Given the description of an element on the screen output the (x, y) to click on. 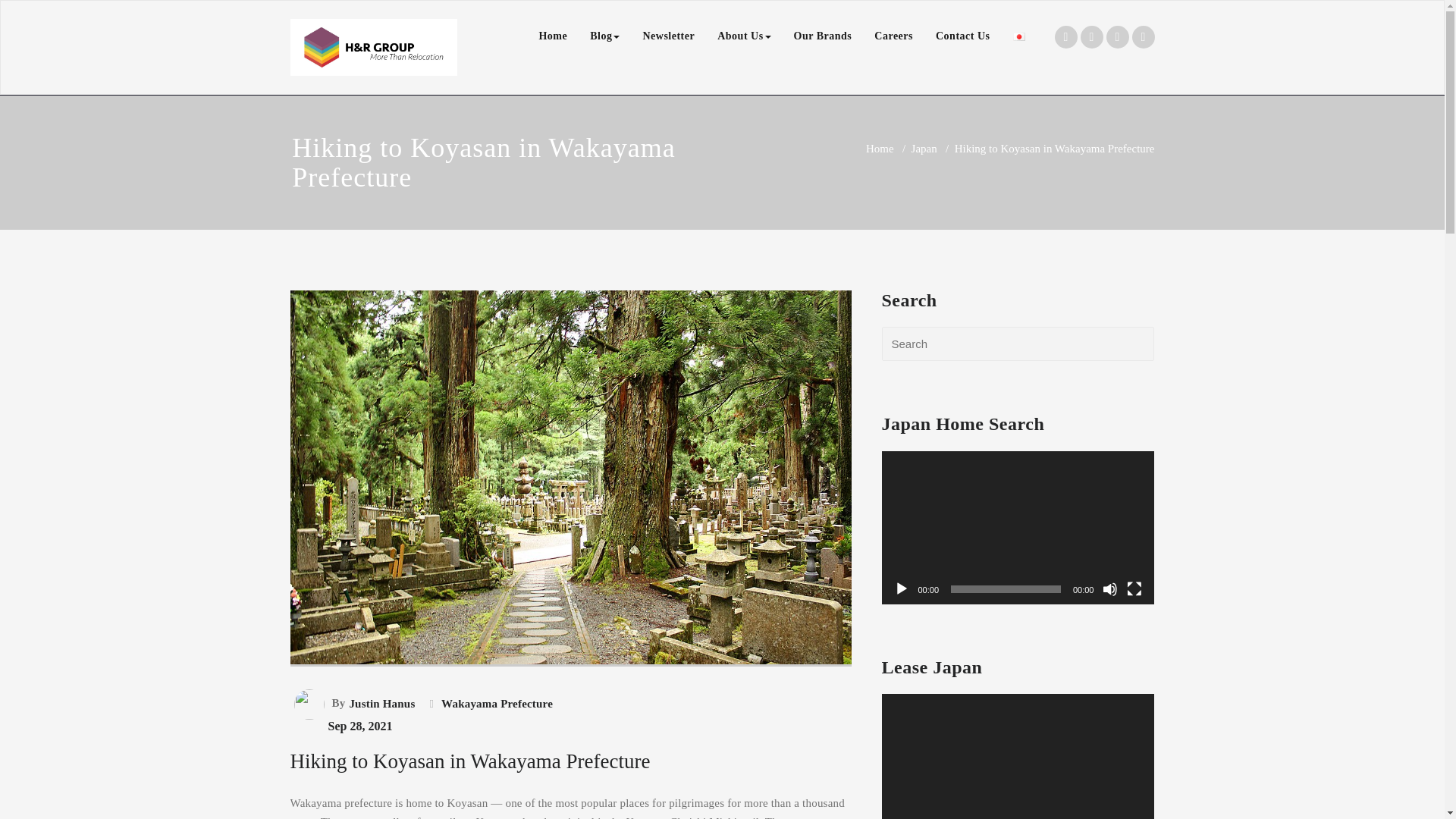
Justin Hanus (379, 703)
Careers (893, 36)
About Us (743, 36)
Contact Us (962, 36)
Japan (924, 148)
Blog (604, 36)
Home (879, 148)
Our Brands (823, 36)
Newsletter (668, 36)
Home (552, 36)
Hiking to Koyasan in Wakayama Prefecture (469, 761)
Hiking to Koyasan in Wakayama Prefecture (569, 685)
Wakayama Prefecture (495, 703)
